Given the description of an element on the screen output the (x, y) to click on. 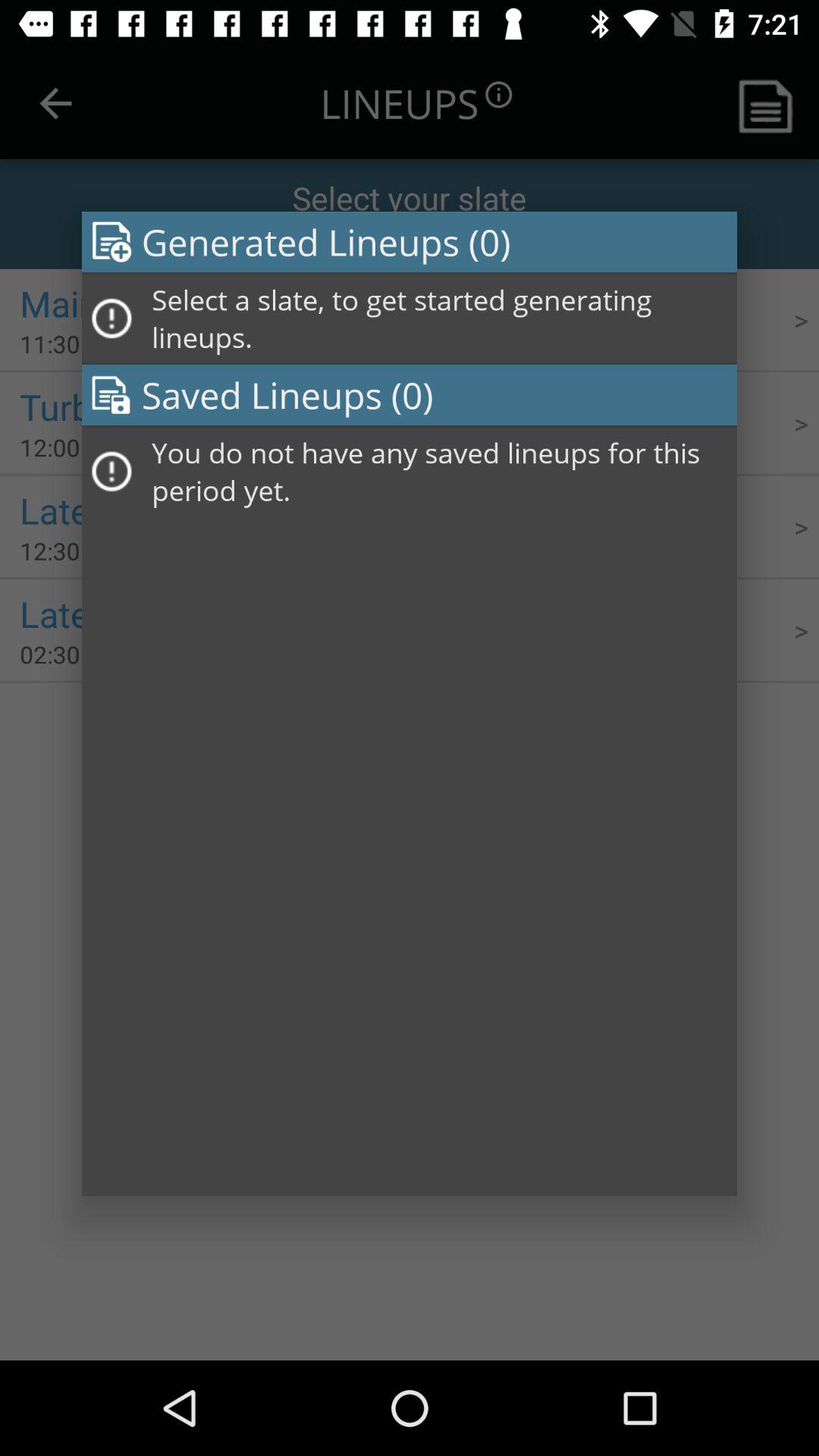
turn on select a slate icon (438, 318)
